Given the description of an element on the screen output the (x, y) to click on. 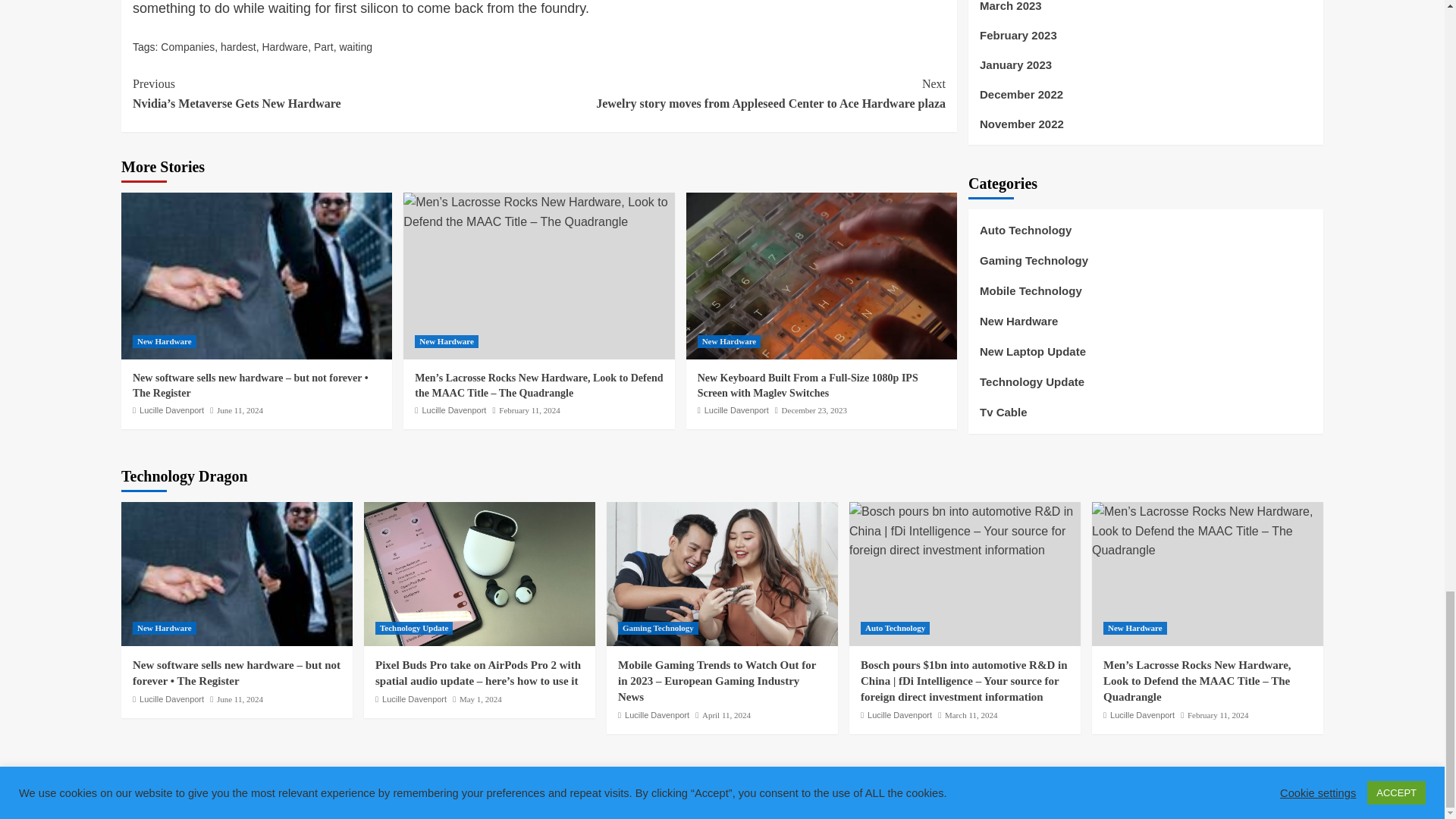
Companies (187, 46)
Lucille Davenport (171, 409)
Part (323, 46)
hardest (238, 46)
June 11, 2024 (239, 409)
New Hardware (164, 341)
waiting (355, 46)
Hardware (284, 46)
